Given the description of an element on the screen output the (x, y) to click on. 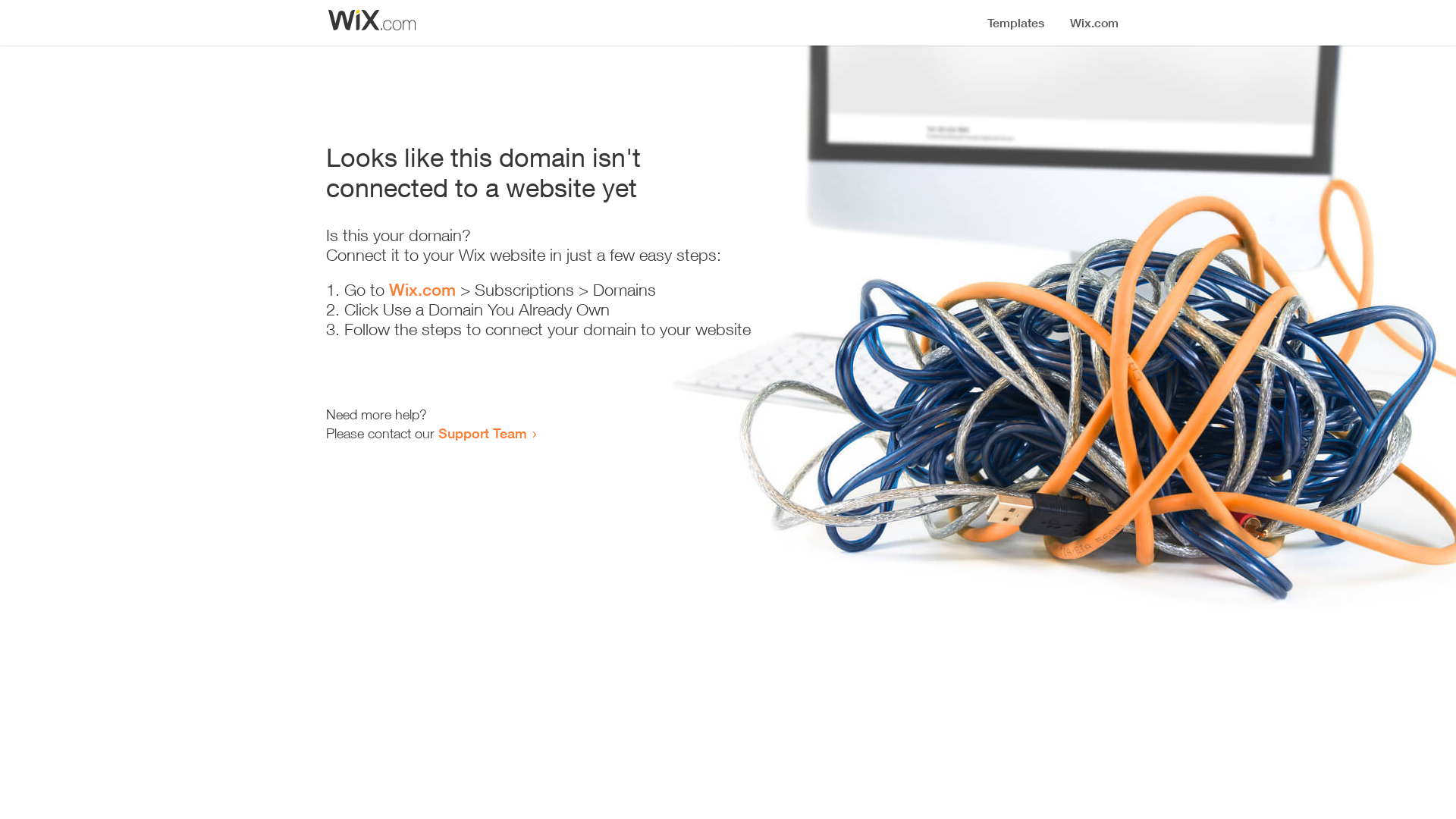
Support Team Element type: text (482, 432)
Wix.com Element type: text (422, 289)
